Given the description of an element on the screen output the (x, y) to click on. 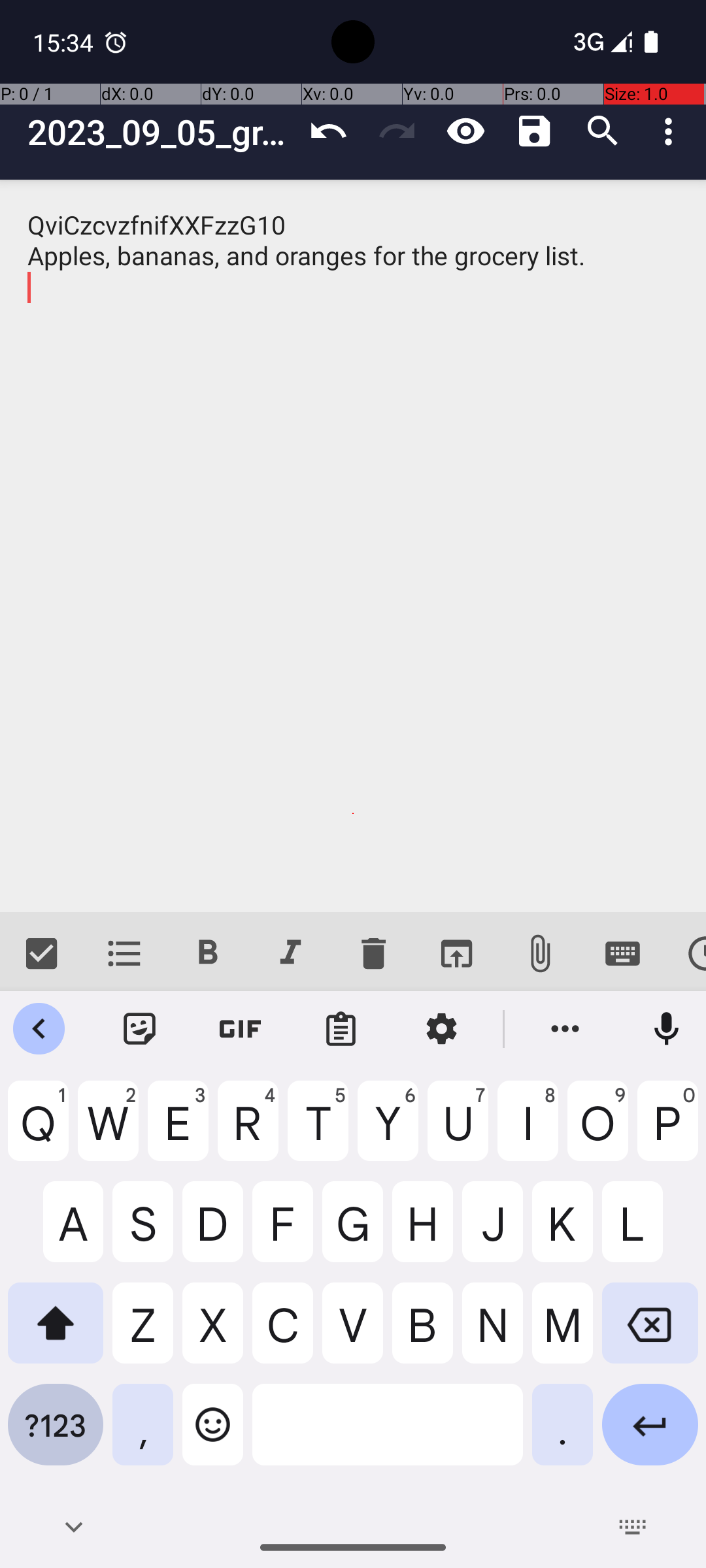
2023_09_05_grocery_list_weekly Element type: android.widget.TextView (160, 131)
QviCzcvzfnifXXFzzG10
Apples, bananas, and oranges for the grocery list.
 Element type: android.widget.EditText (353, 545)
